Given the description of an element on the screen output the (x, y) to click on. 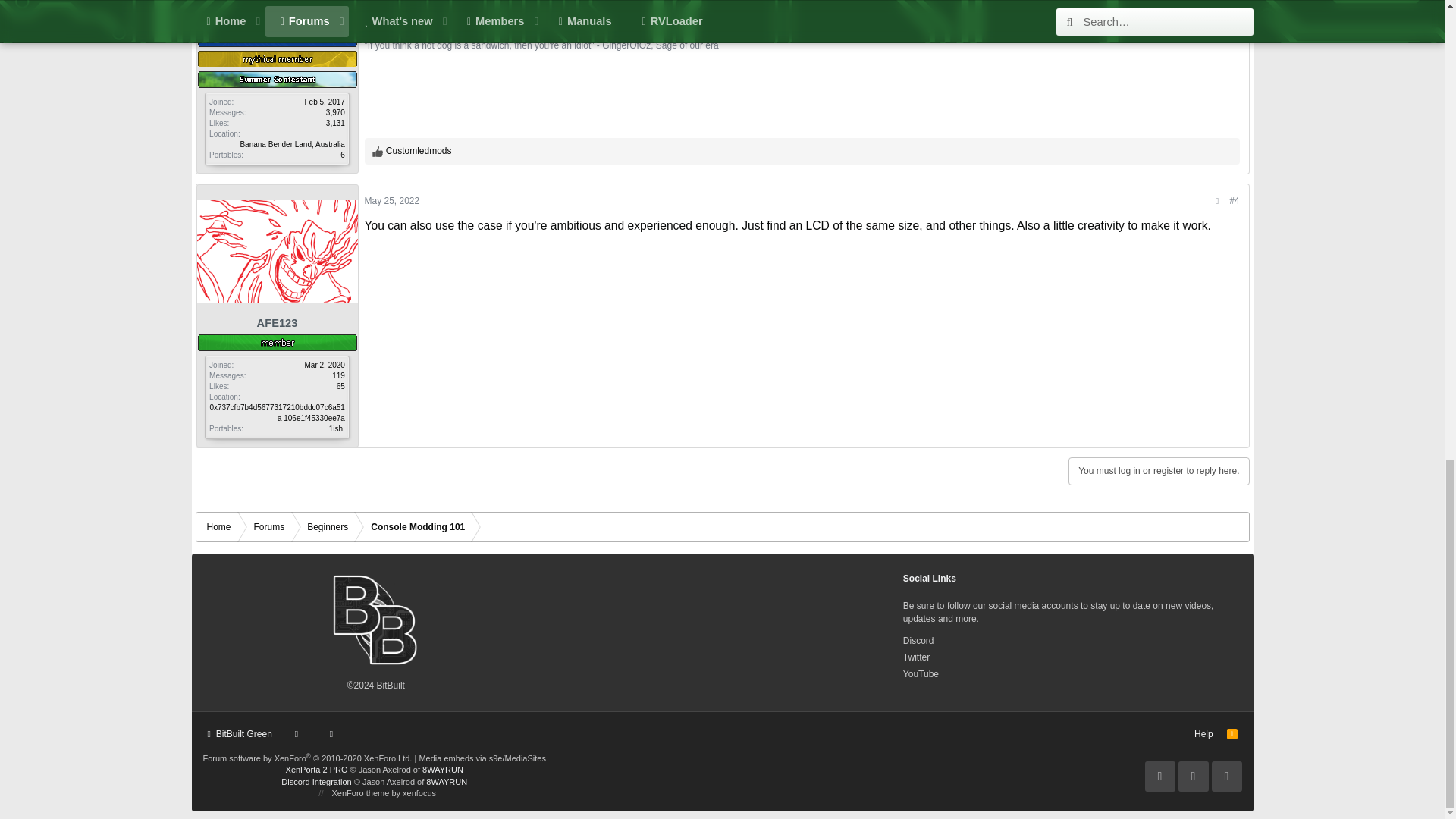
May 25, 2022 at 3:44 AM (391, 200)
RSS (1232, 734)
Like (377, 151)
